Given the description of an element on the screen output the (x, y) to click on. 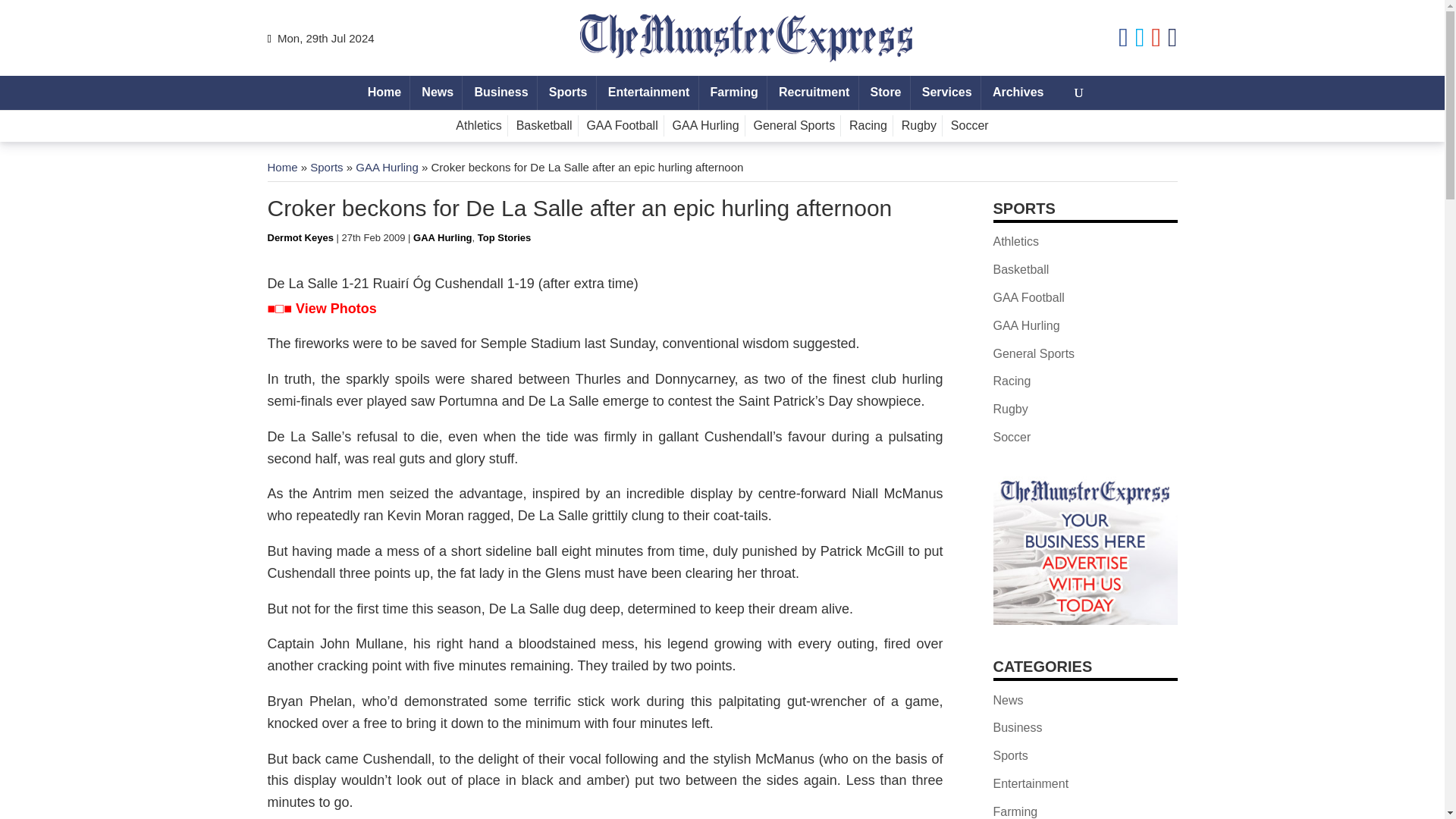
Top Stories (504, 237)
Farming (734, 92)
Services (946, 92)
Rugby (919, 125)
Athletics (477, 125)
Racing (868, 125)
News (437, 92)
Posts by Dermot Keyes (299, 237)
Home (281, 166)
GAA Football (621, 125)
GAA Hurling (387, 166)
Archives (1018, 92)
GAA Hurling (442, 237)
Soccer (969, 125)
Recruitment (814, 92)
